Given the description of an element on the screen output the (x, y) to click on. 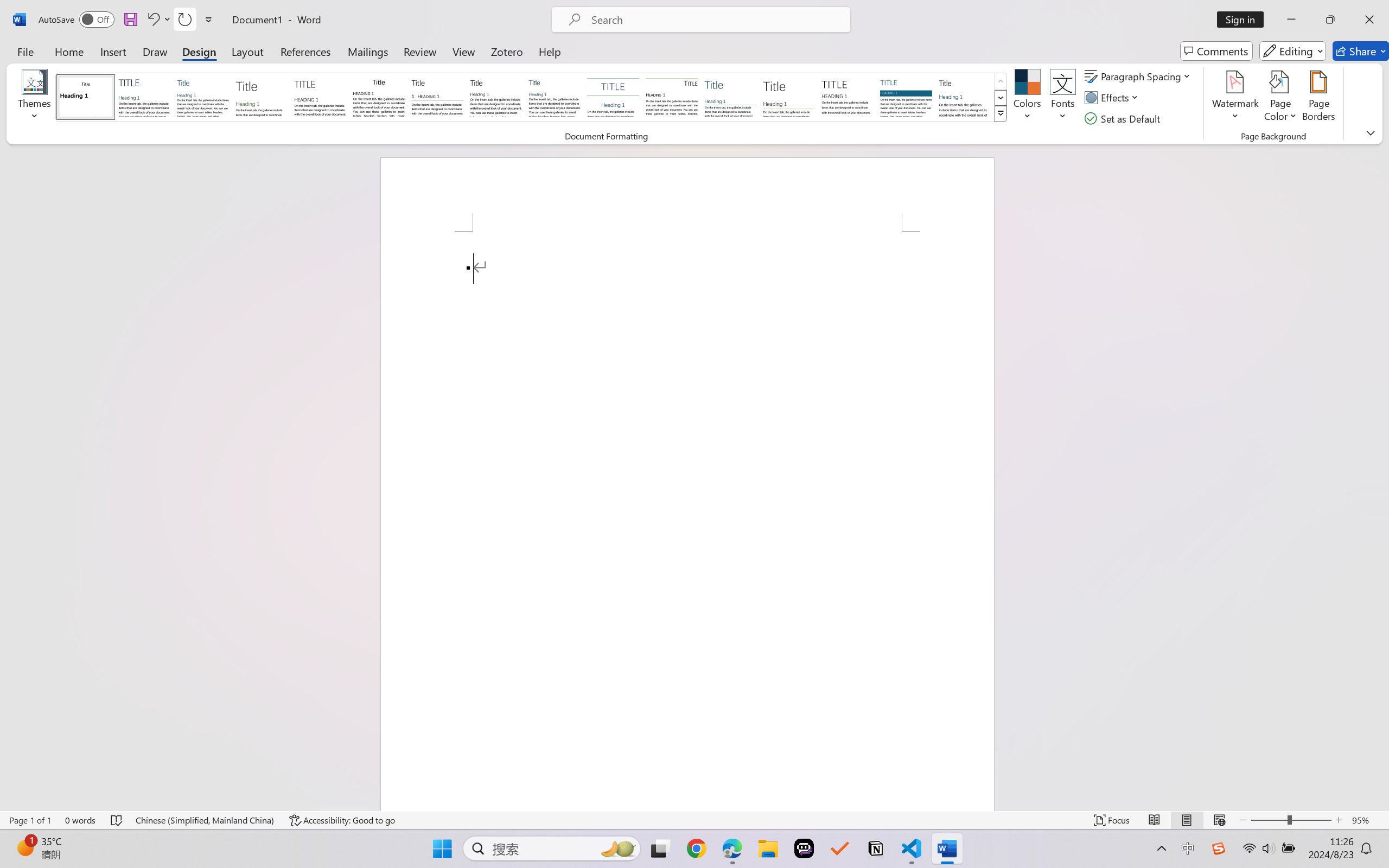
Editing (1292, 50)
Page Borders... (1318, 97)
Centered (612, 96)
Document (85, 96)
Set as Default (1124, 118)
Minimalist (847, 96)
